Given the description of an element on the screen output the (x, y) to click on. 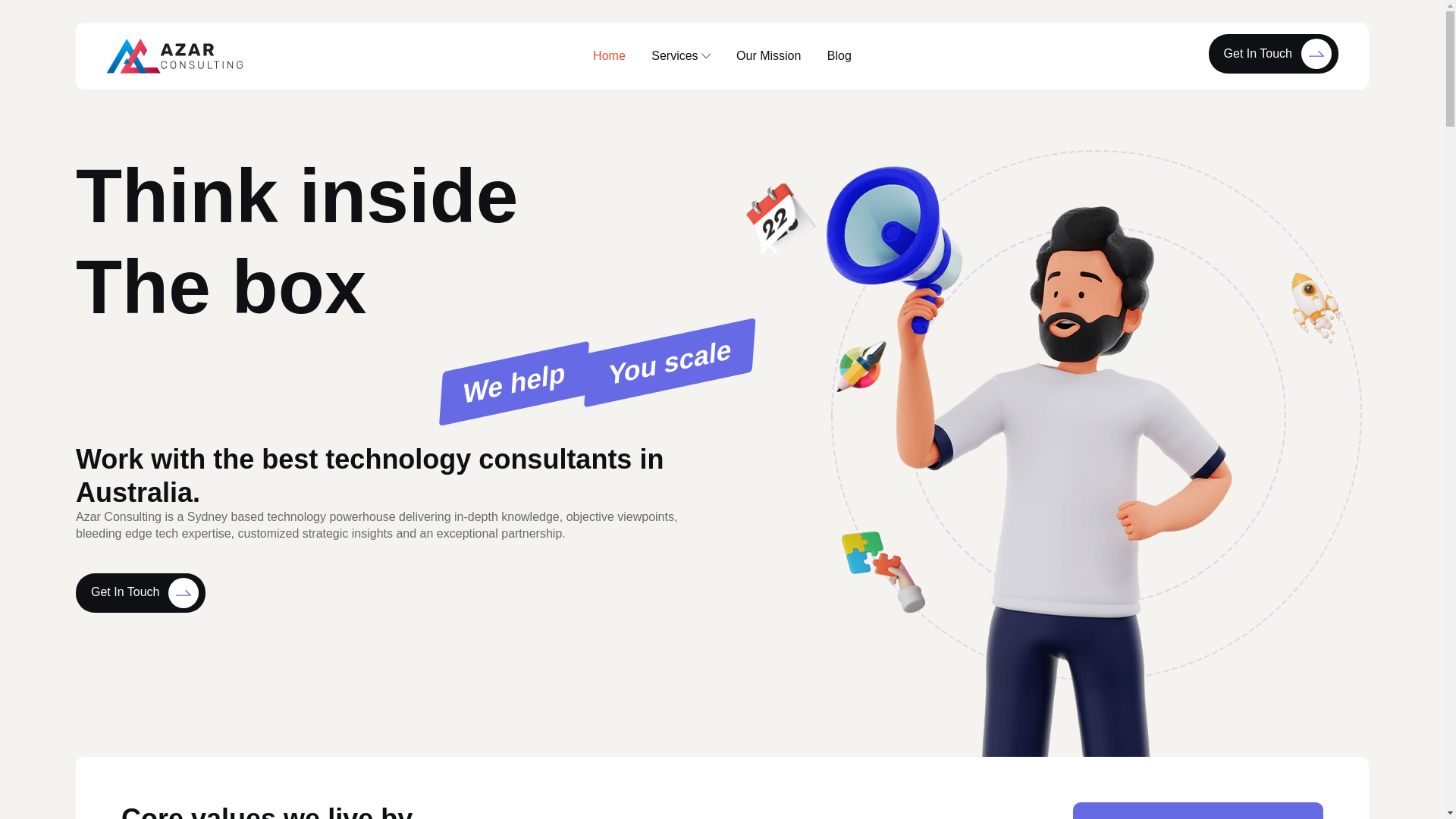
Blog (839, 55)
Get In Touch (1273, 53)
Home (609, 55)
Get In Touch (140, 592)
Our Mission (768, 55)
